Given the description of an element on the screen output the (x, y) to click on. 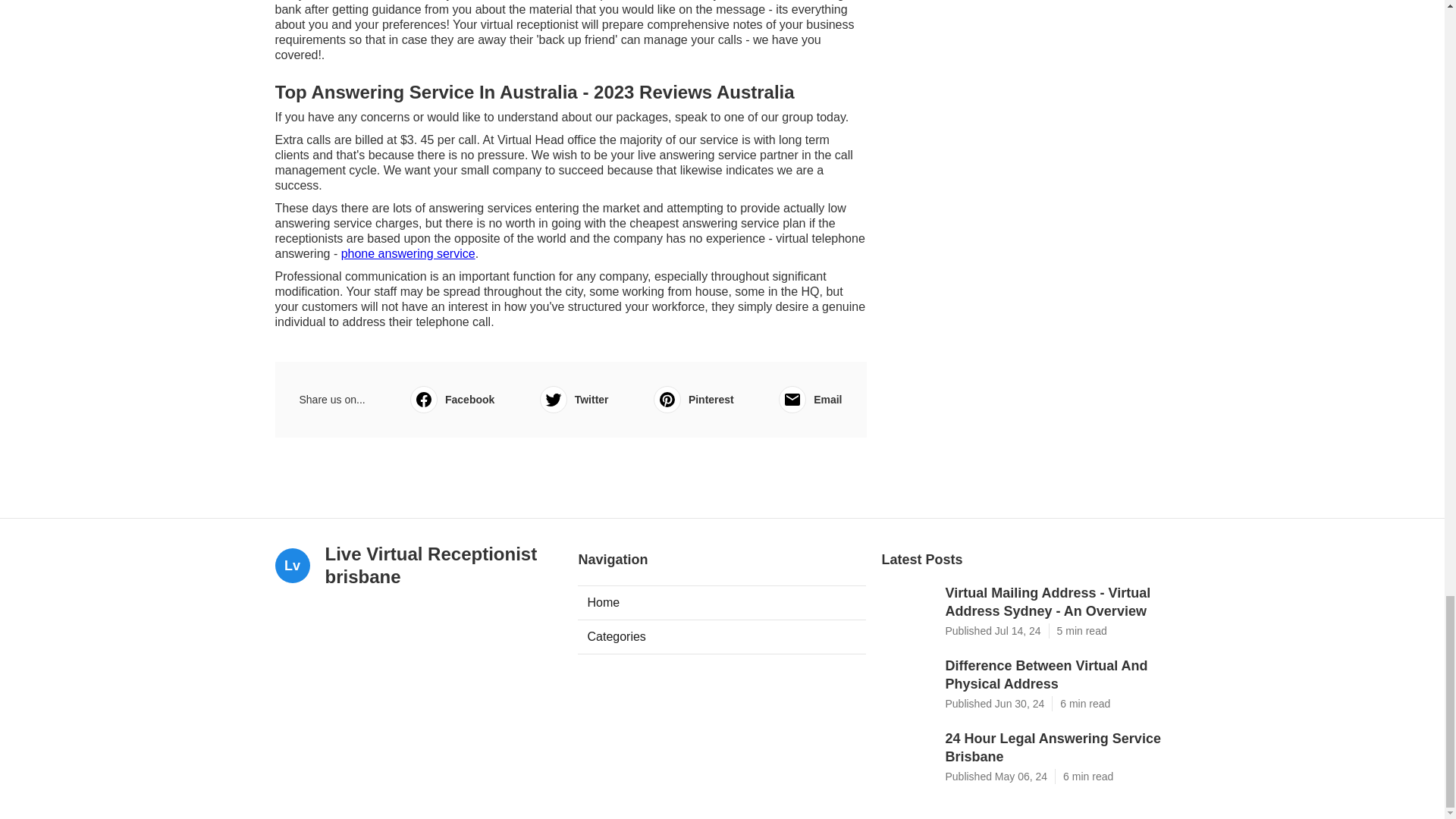
Pinterest (693, 399)
Facebook (452, 399)
phone answering service (408, 253)
Twitter (574, 399)
Email (809, 399)
